Given the description of an element on the screen output the (x, y) to click on. 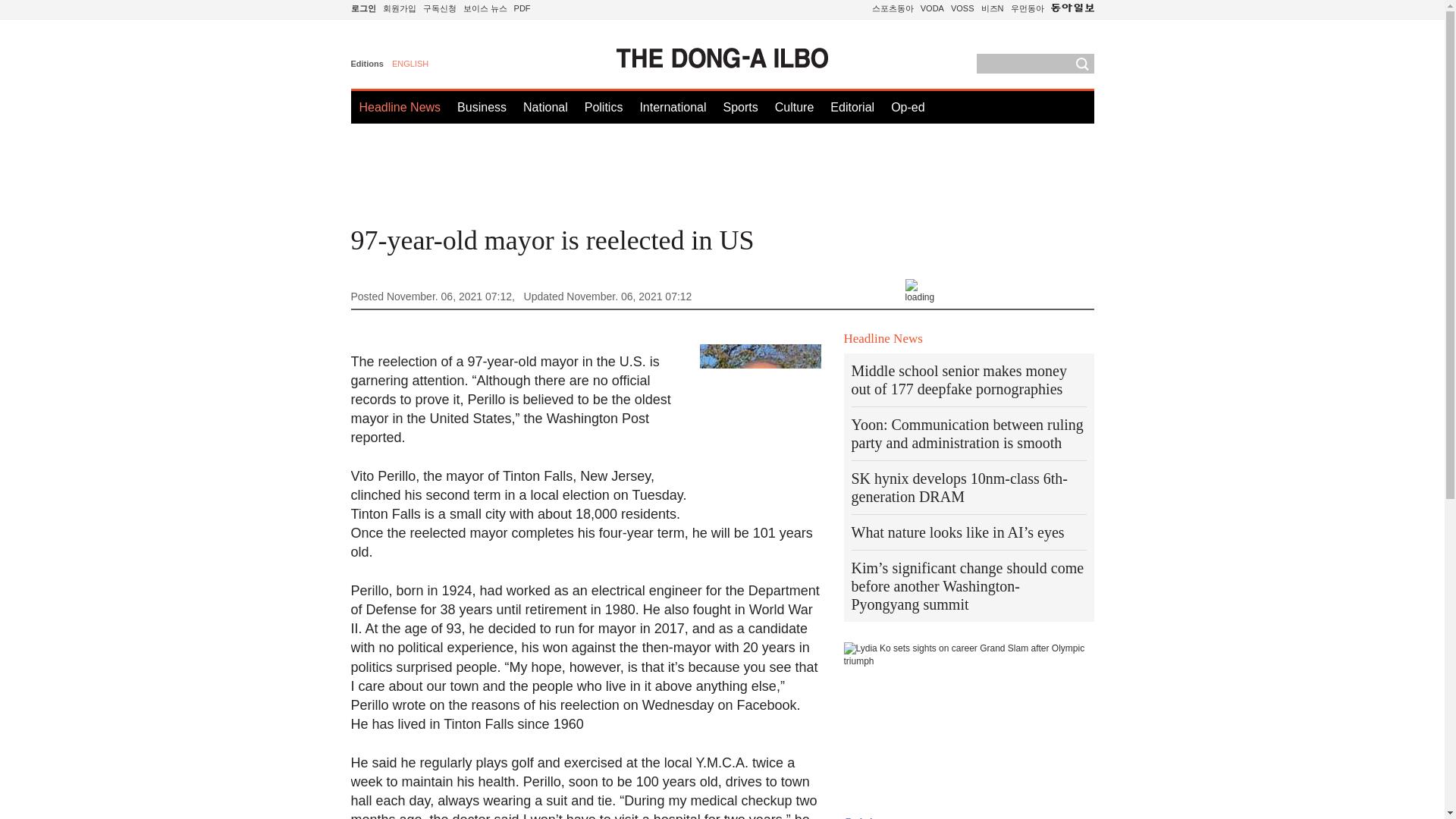
ENGLISH (416, 65)
READERS (440, 8)
International (672, 106)
Editorial (852, 106)
WOMAN (1026, 8)
Font size up (969, 290)
Op-ed (907, 106)
PDF (522, 8)
Politics (604, 106)
Sports (739, 106)
